Given the description of an element on the screen output the (x, y) to click on. 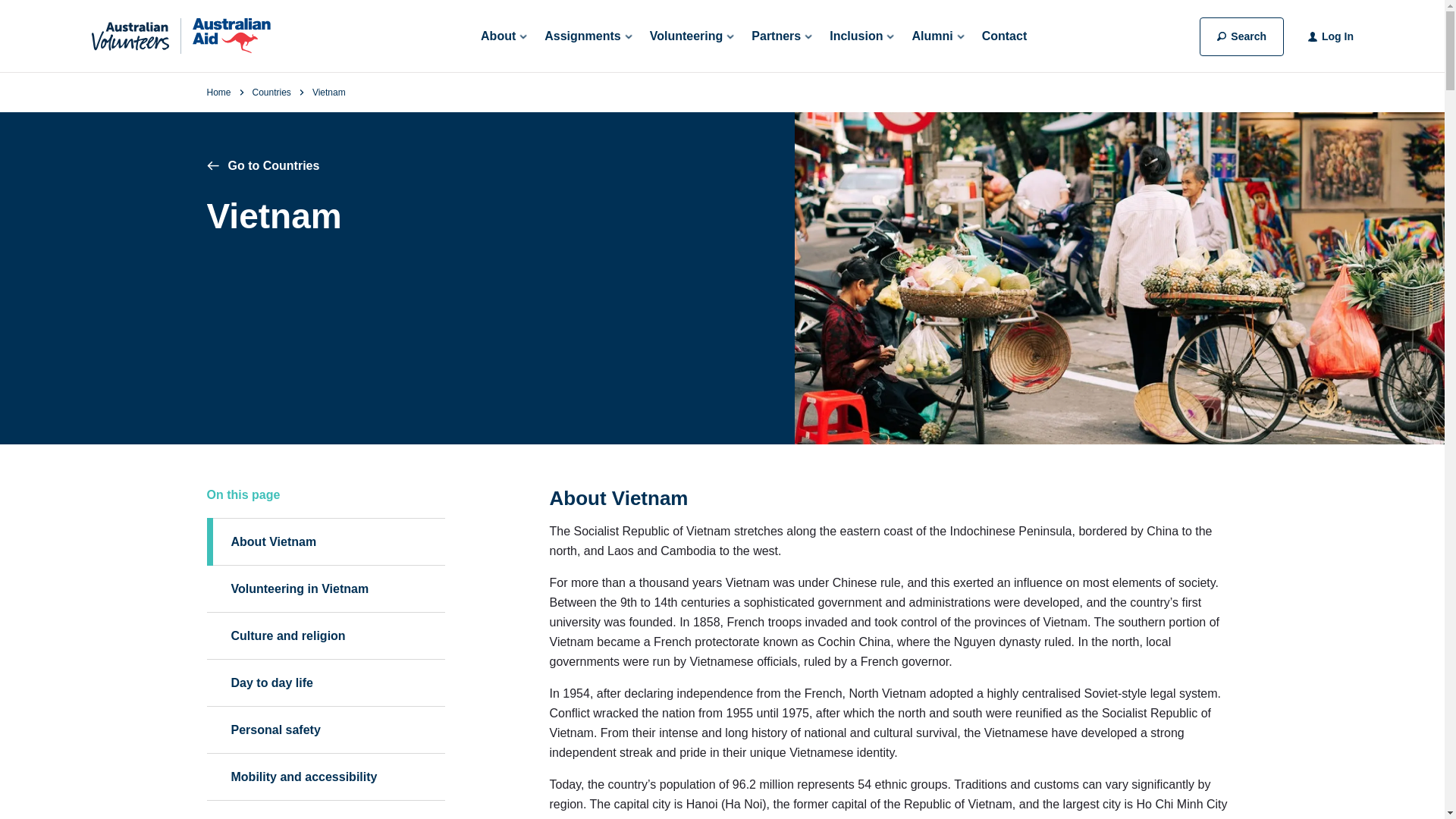
Partners (780, 36)
About (502, 36)
Culture and religion (325, 635)
Personal safety (325, 729)
Log In (1338, 36)
Assignments (587, 36)
Contact (1004, 36)
Mobility and accessibility (325, 776)
About Vietnam (325, 541)
Day to day life (325, 682)
Inclusion (861, 36)
Go to Countries (262, 165)
Home (218, 91)
Alumni (936, 36)
Volunteering (691, 36)
